Given the description of an element on the screen output the (x, y) to click on. 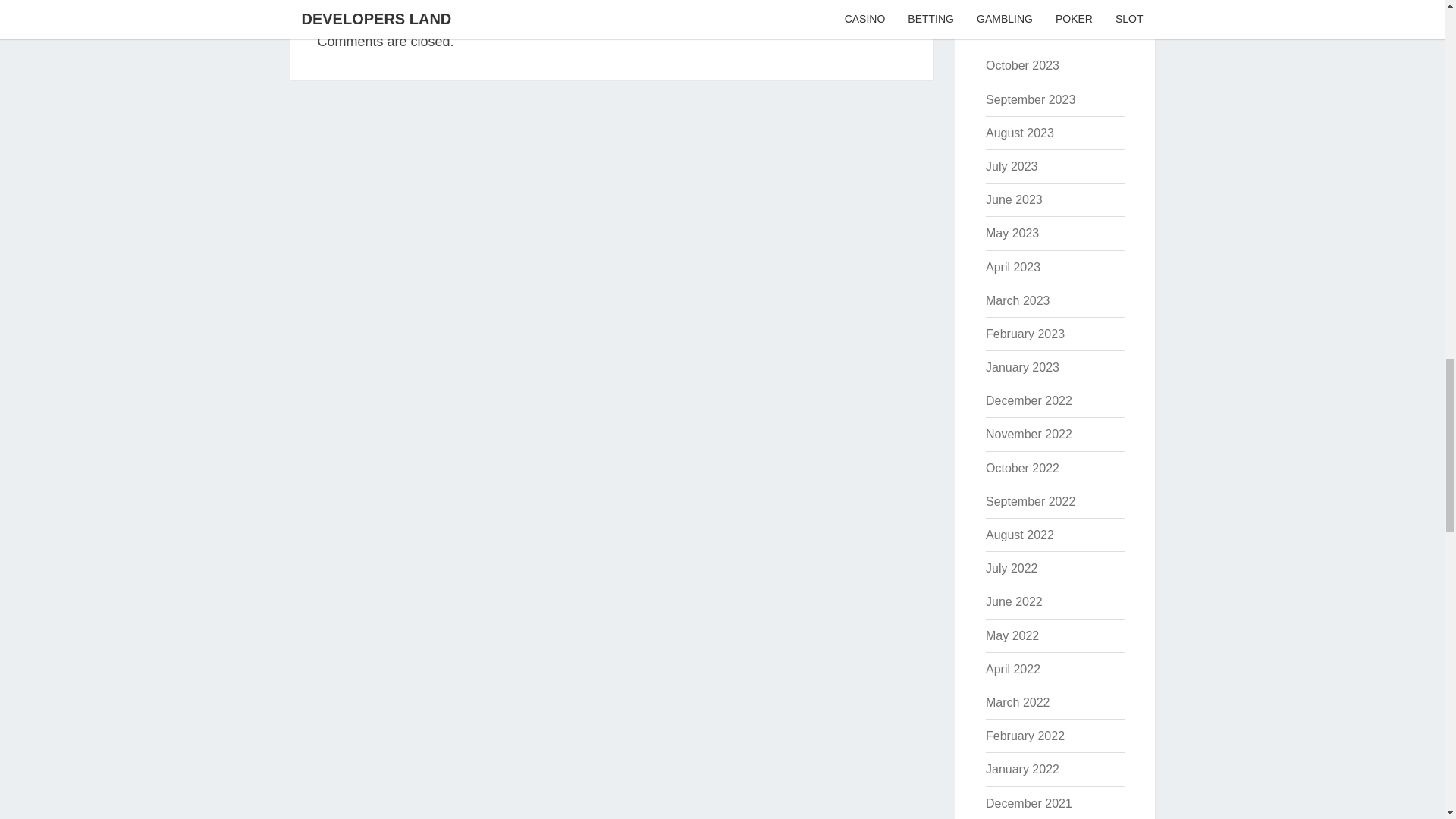
February 2023 (1024, 333)
October 2023 (1022, 65)
March 2023 (1017, 300)
May 2023 (1012, 232)
July 2023 (1011, 165)
January 2023 (1022, 367)
December 2023 (1028, 2)
November 2023 (1028, 31)
June 2023 (1013, 199)
August 2023 (1019, 132)
